Given the description of an element on the screen output the (x, y) to click on. 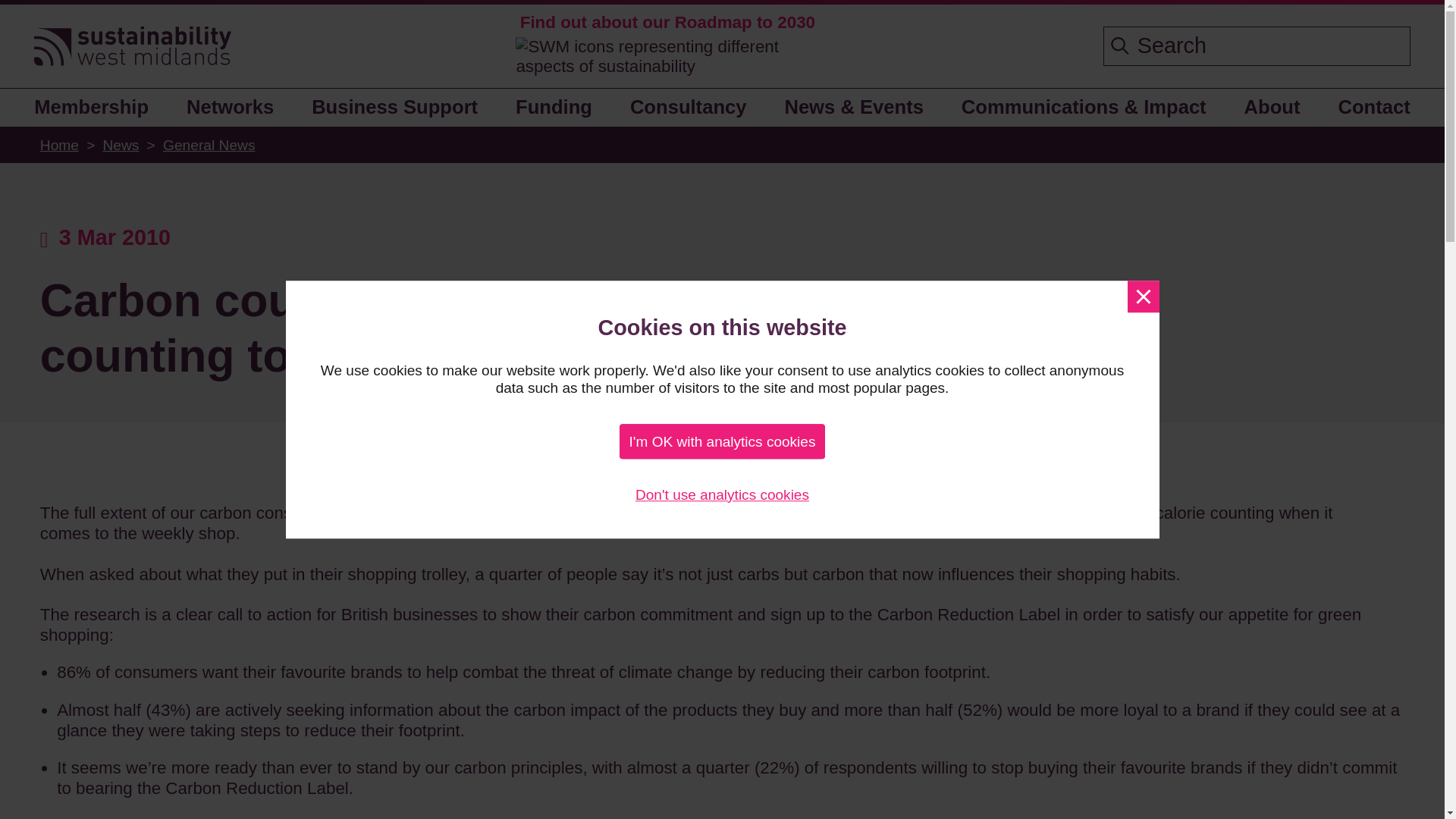
Business Support (394, 107)
Consultancy (687, 107)
Funding (554, 107)
Networks (230, 107)
Membership (96, 107)
Don't use analytics cookies (721, 494)
Go to the Sustainability West Midlands home page (132, 47)
I'm OK with analytics cookies (722, 441)
About (1272, 107)
Dismiss message (1142, 296)
